Given the description of an element on the screen output the (x, y) to click on. 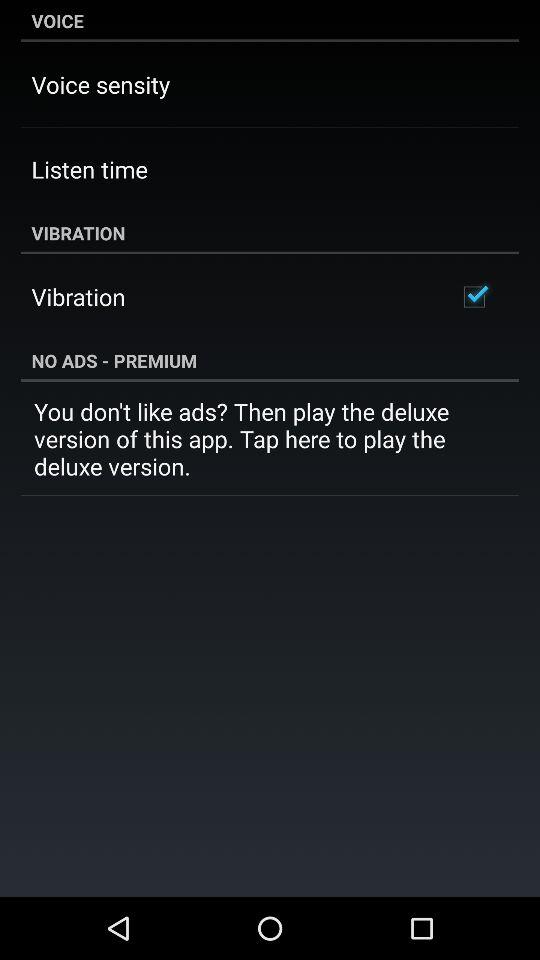
turn off icon below the voice sensity (89, 169)
